Given the description of an element on the screen output the (x, y) to click on. 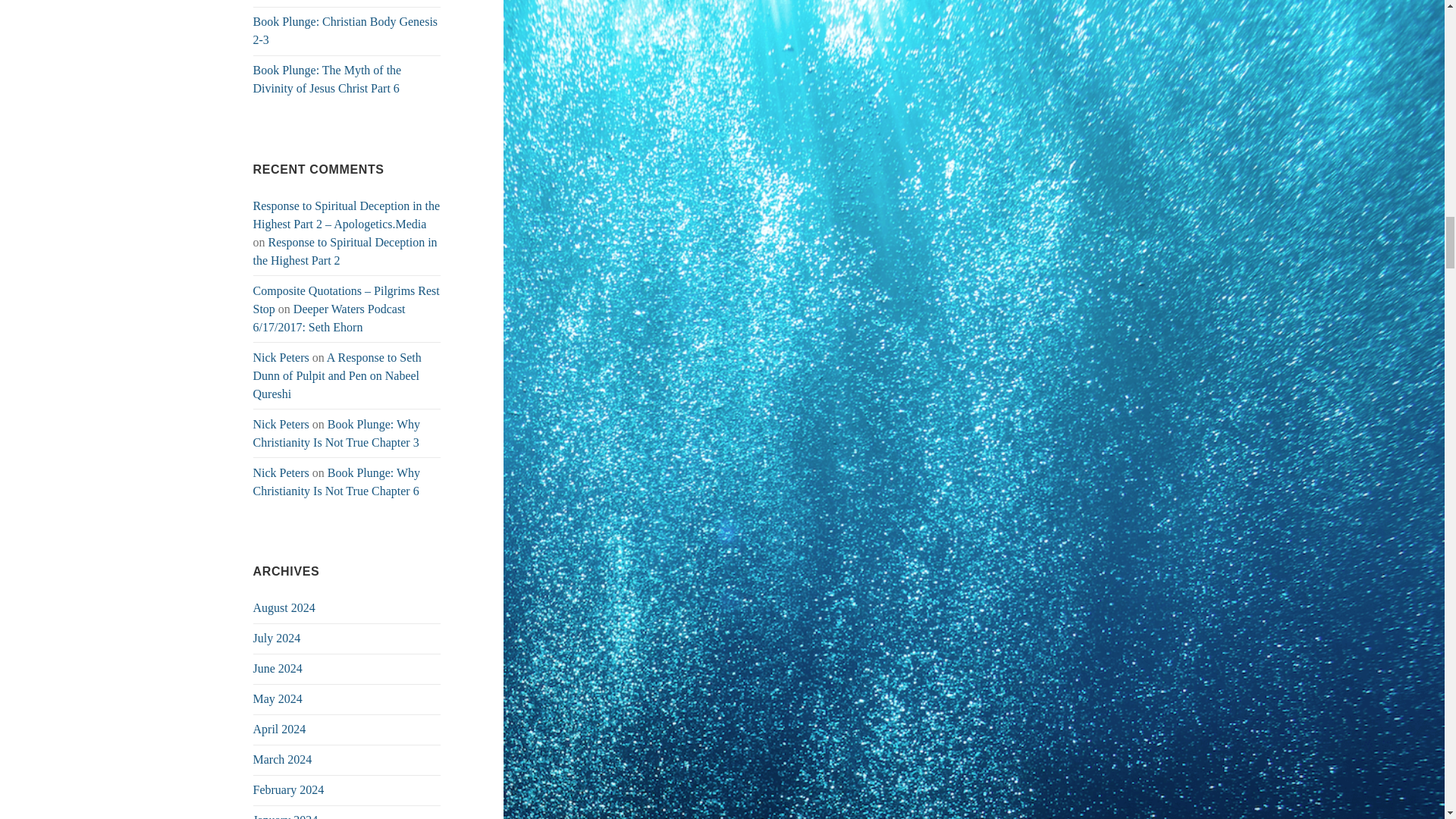
Response to Spiritual Deception in the Highest Part 2 (345, 250)
Book Plunge: Christian Body Genesis 2-3 (345, 30)
A Response to Seth Dunn of Pulpit and Pen on Nabeel Qureshi (337, 375)
Book Plunge: The Myth of the Divinity of Jesus Christ Part 6 (327, 79)
Book Plunge: Why Christianity Is Not True Chapter 3 (336, 432)
Nick Peters (280, 423)
Nick Peters (280, 357)
